Given the description of an element on the screen output the (x, y) to click on. 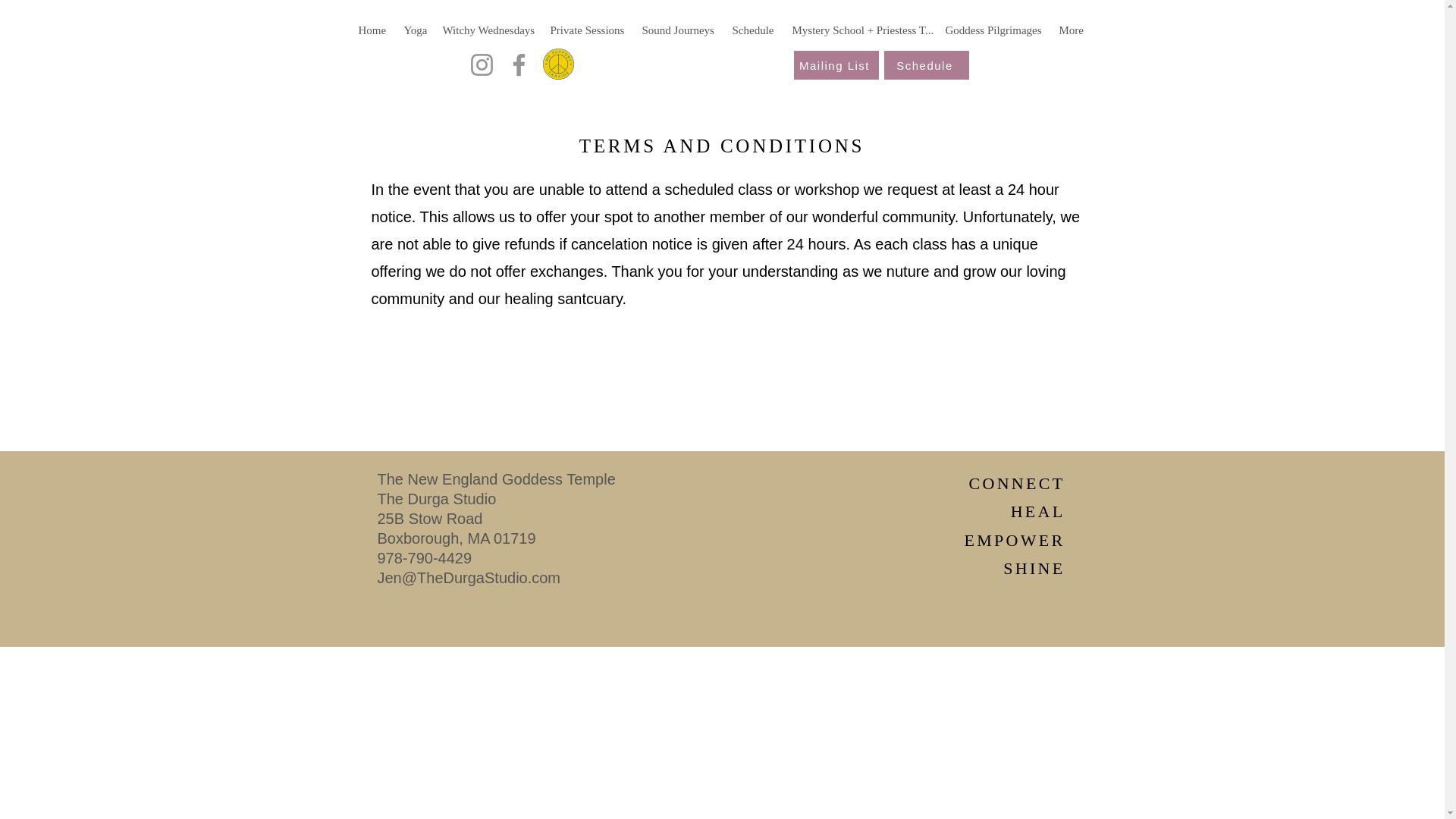
Private Sessions (588, 30)
Schedule (754, 30)
Schedule (926, 64)
Sound Journeys (678, 30)
Mailing List (835, 64)
Home (373, 30)
Witchy Wednesdays (489, 30)
Yoga (414, 30)
Goddess Pilgrimages (994, 30)
